Given the description of an element on the screen output the (x, y) to click on. 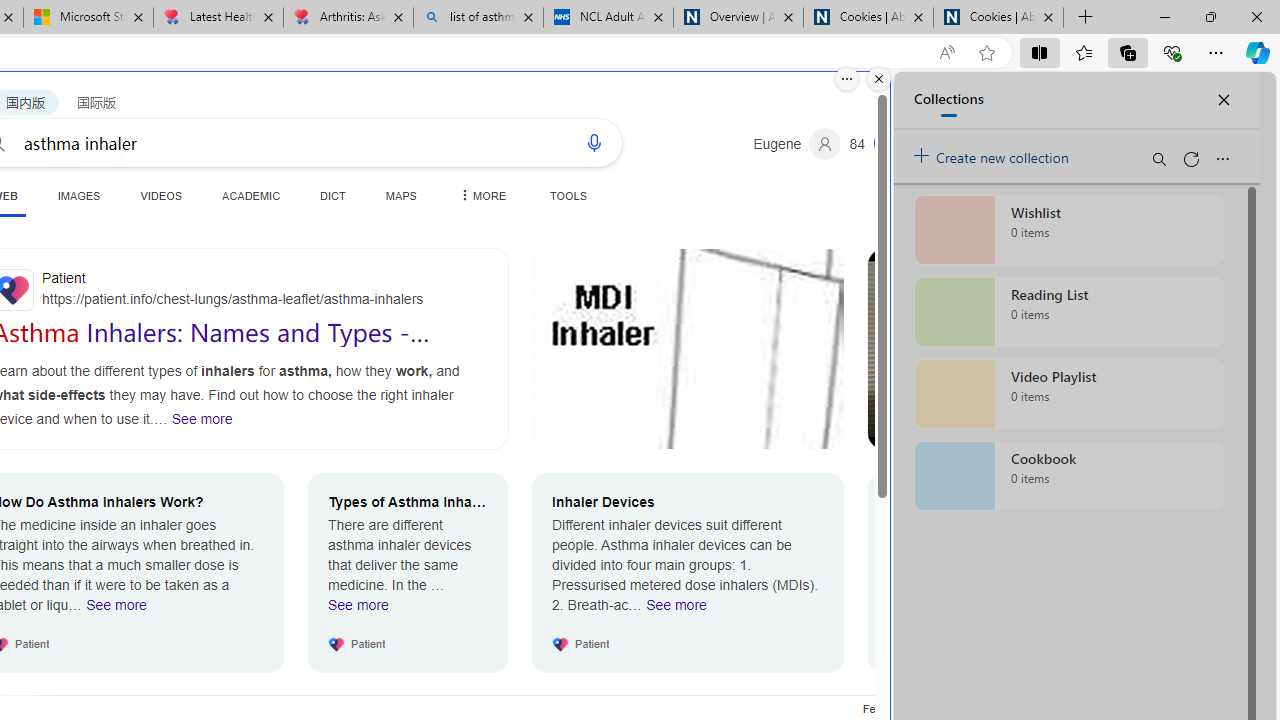
MAPS (400, 195)
Microsoft Rewards 81 (878, 143)
